Given the description of an element on the screen output the (x, y) to click on. 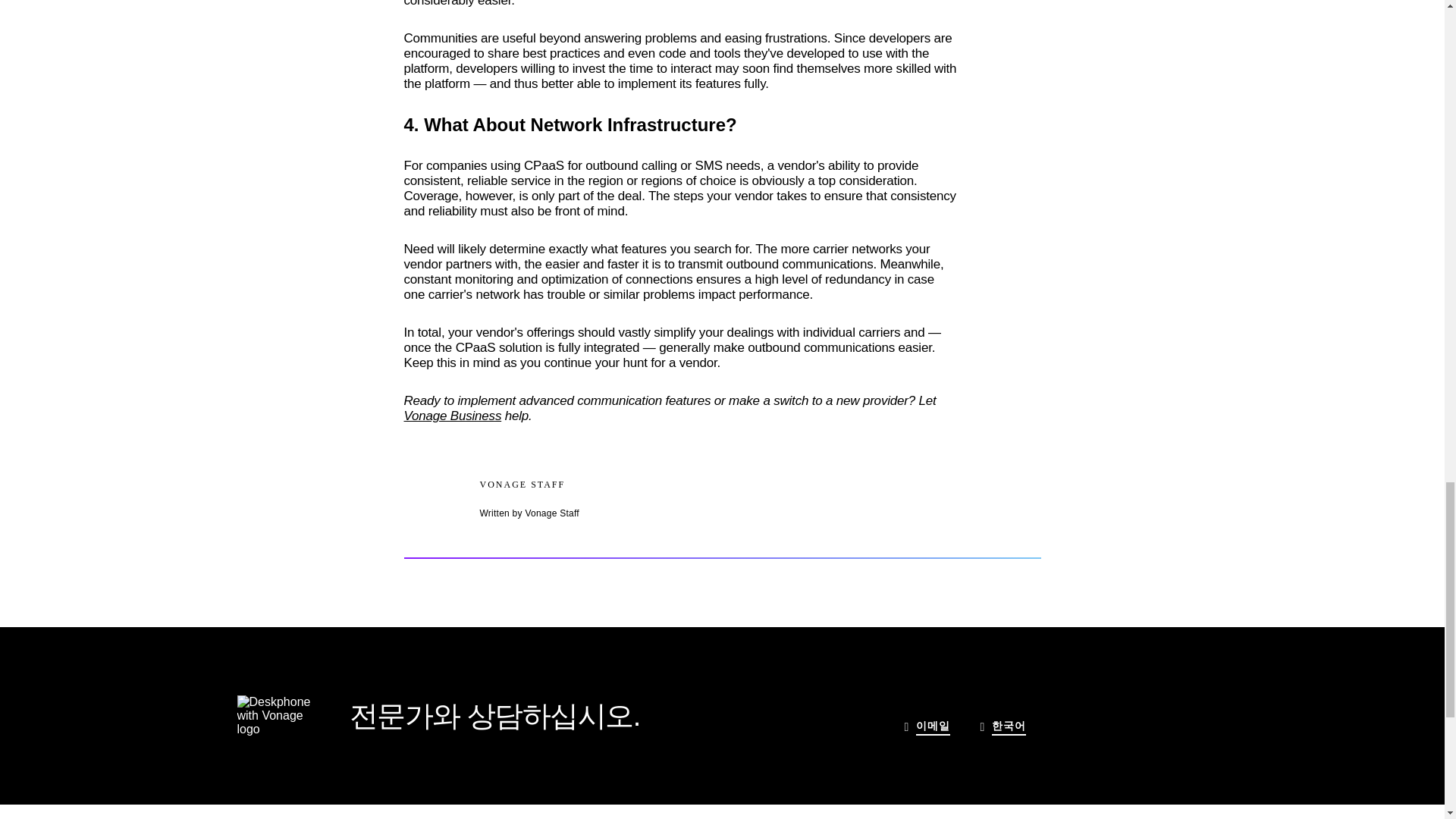
Vonage Phone (273, 715)
